Given the description of an element on the screen output the (x, y) to click on. 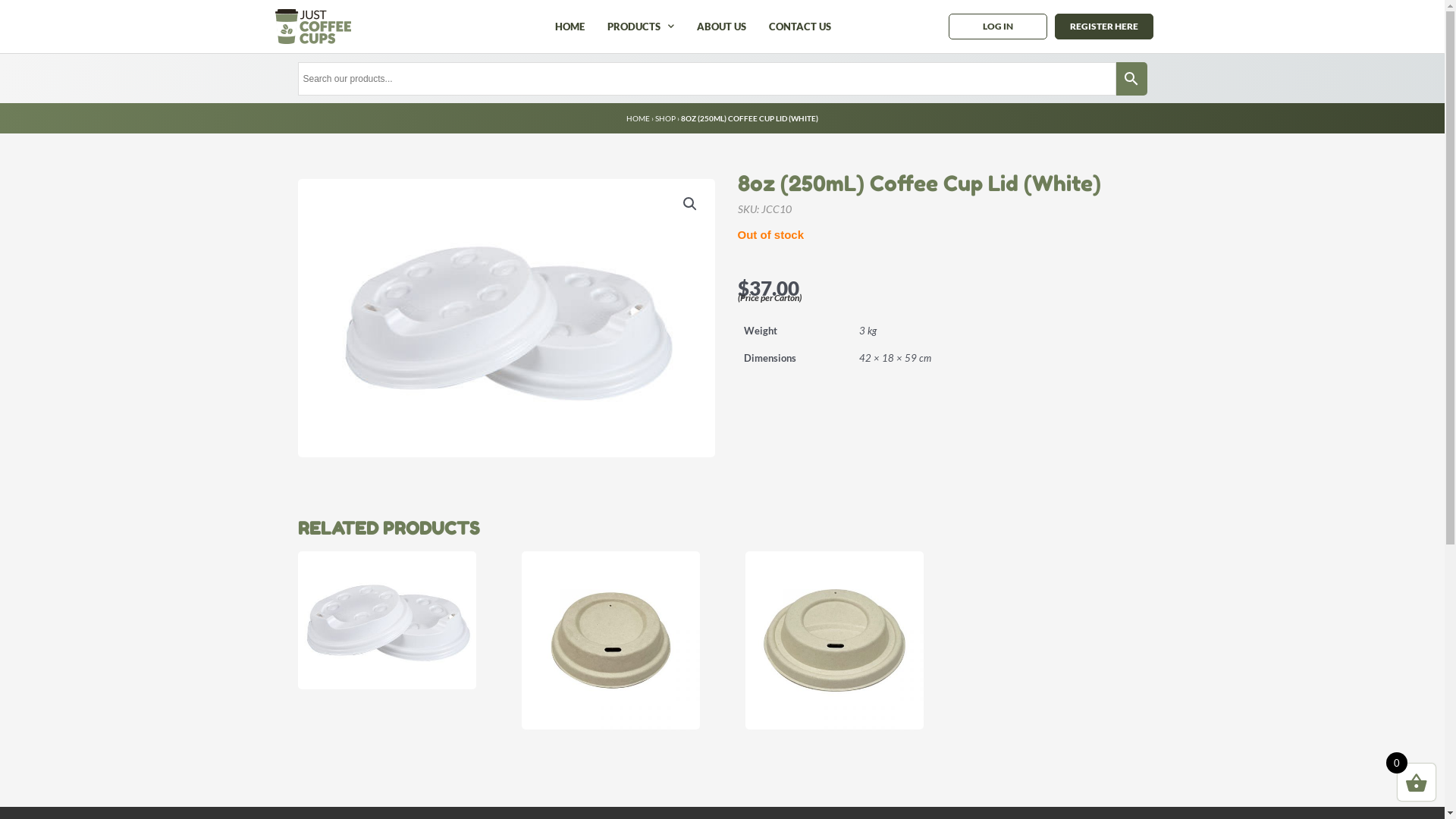
REGISTER HERE Element type: text (1103, 26)
10oz-12oz-16oz-Coffee-Cup-Lid-White Element type: hover (505, 317)
CONTACT US Element type: text (799, 26)
HOME Element type: text (637, 117)
SHOP Element type: text (665, 117)
HOME Element type: text (569, 26)
PRODUCTS Element type: text (640, 26)
LOG IN Element type: text (997, 26)
ABOUT US Element type: text (721, 26)
